Given the description of an element on the screen output the (x, y) to click on. 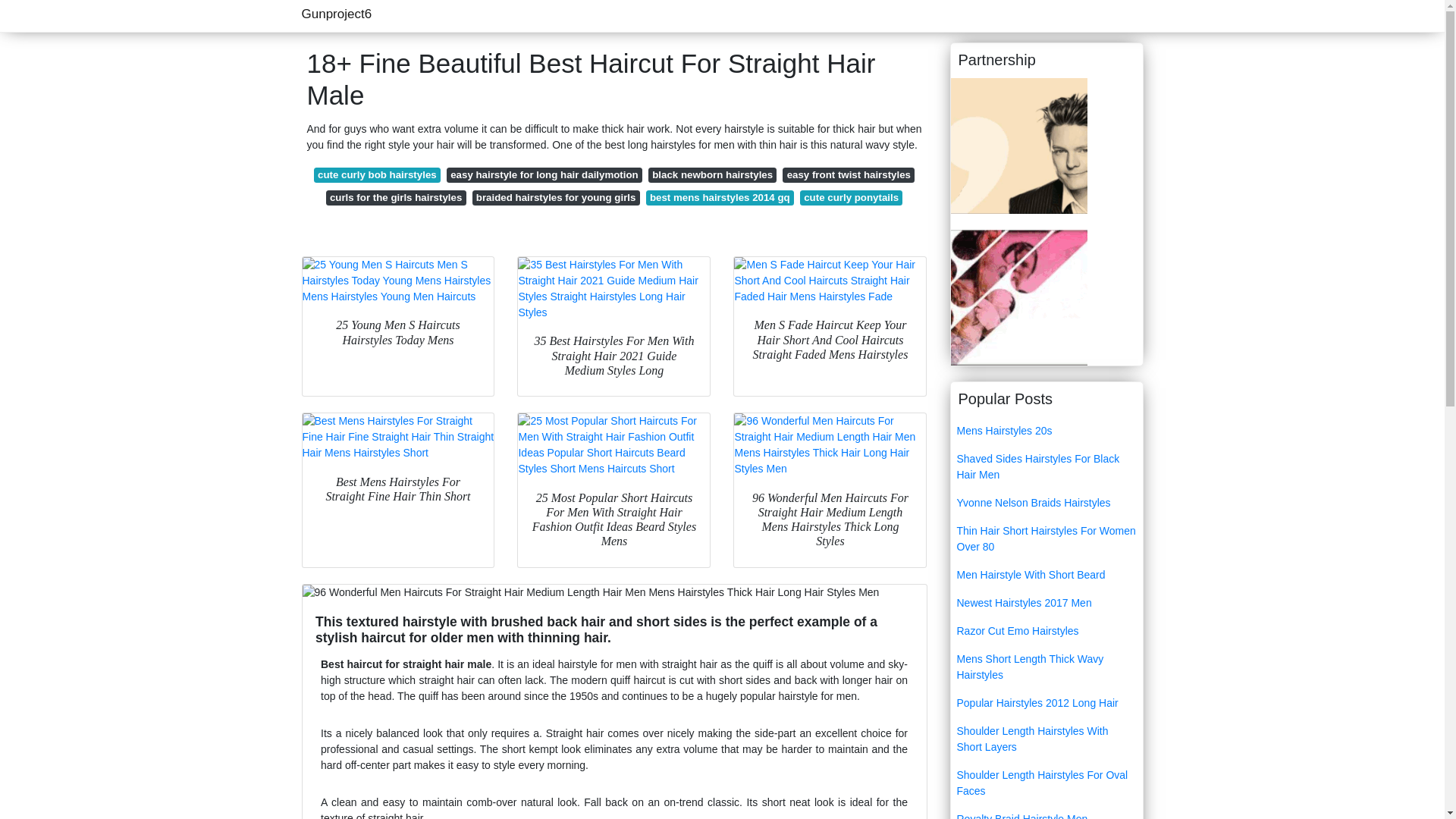
Shaved Sides Hairstyles For Black Hair Men (1046, 466)
Razor Cut Emo Hairstyles (1046, 631)
Mens Short Length Thick Wavy Hairstyles (1046, 667)
braided hairstyles for young girls (555, 197)
Newest Hairstyles 2017 Men (1046, 602)
Men Hairstyle With Short Beard (1046, 574)
Mens Hairstyles 20s (1046, 430)
easy front twist hairstyles (848, 174)
black newborn hairstyles (712, 174)
Gunproject6 (336, 13)
